Given the description of an element on the screen output the (x, y) to click on. 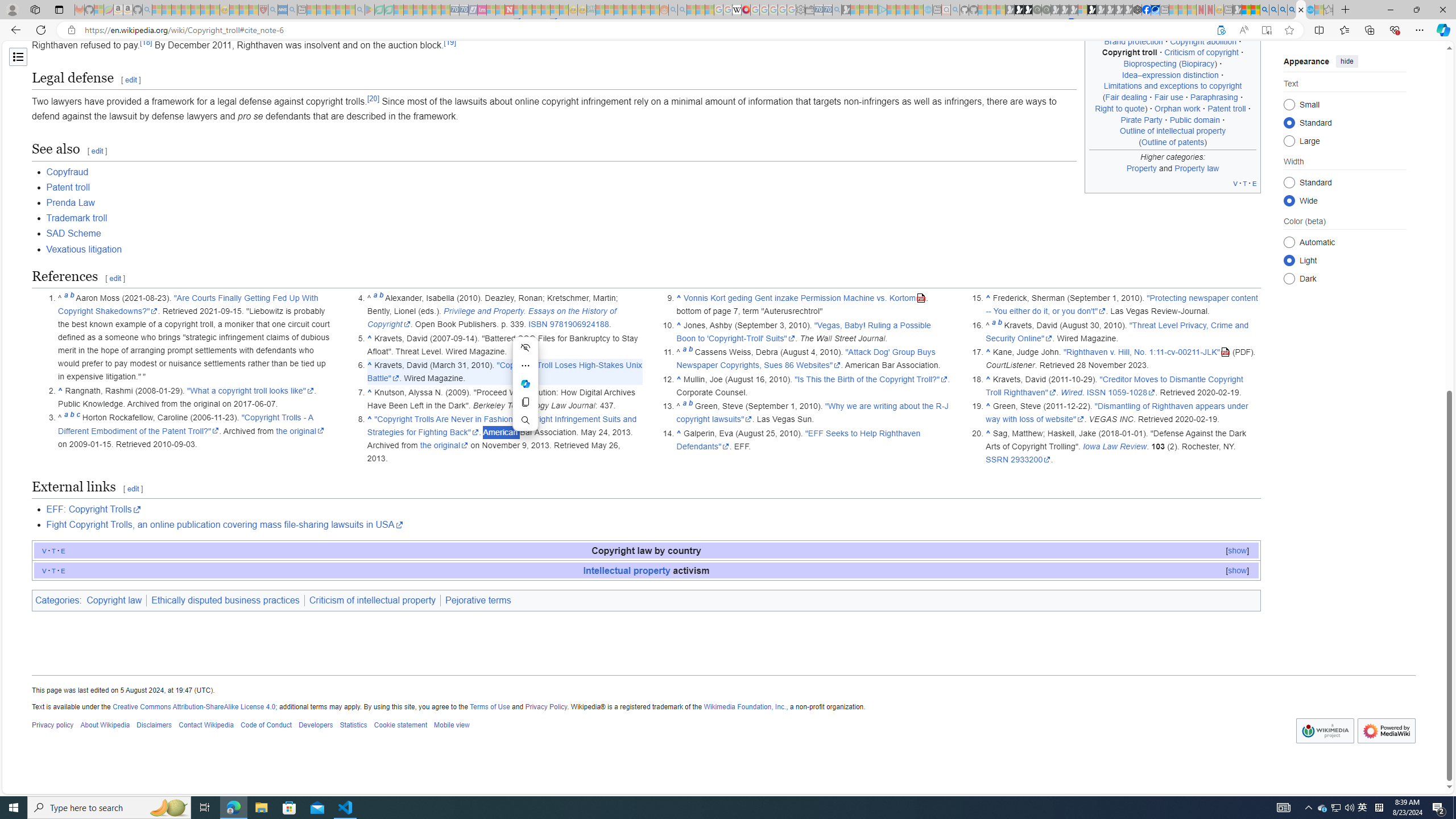
Outline of intellectual property (Outline of patents) (1172, 136)
Fair use (1168, 97)
MSN - Sleeping (1236, 9)
Criticism of copyright (1201, 52)
SAD Scheme (653, 233)
Public domain (1194, 119)
Fair dealing (1126, 97)
Favorites - Sleeping (1328, 9)
v (44, 569)
